Given the description of an element on the screen output the (x, y) to click on. 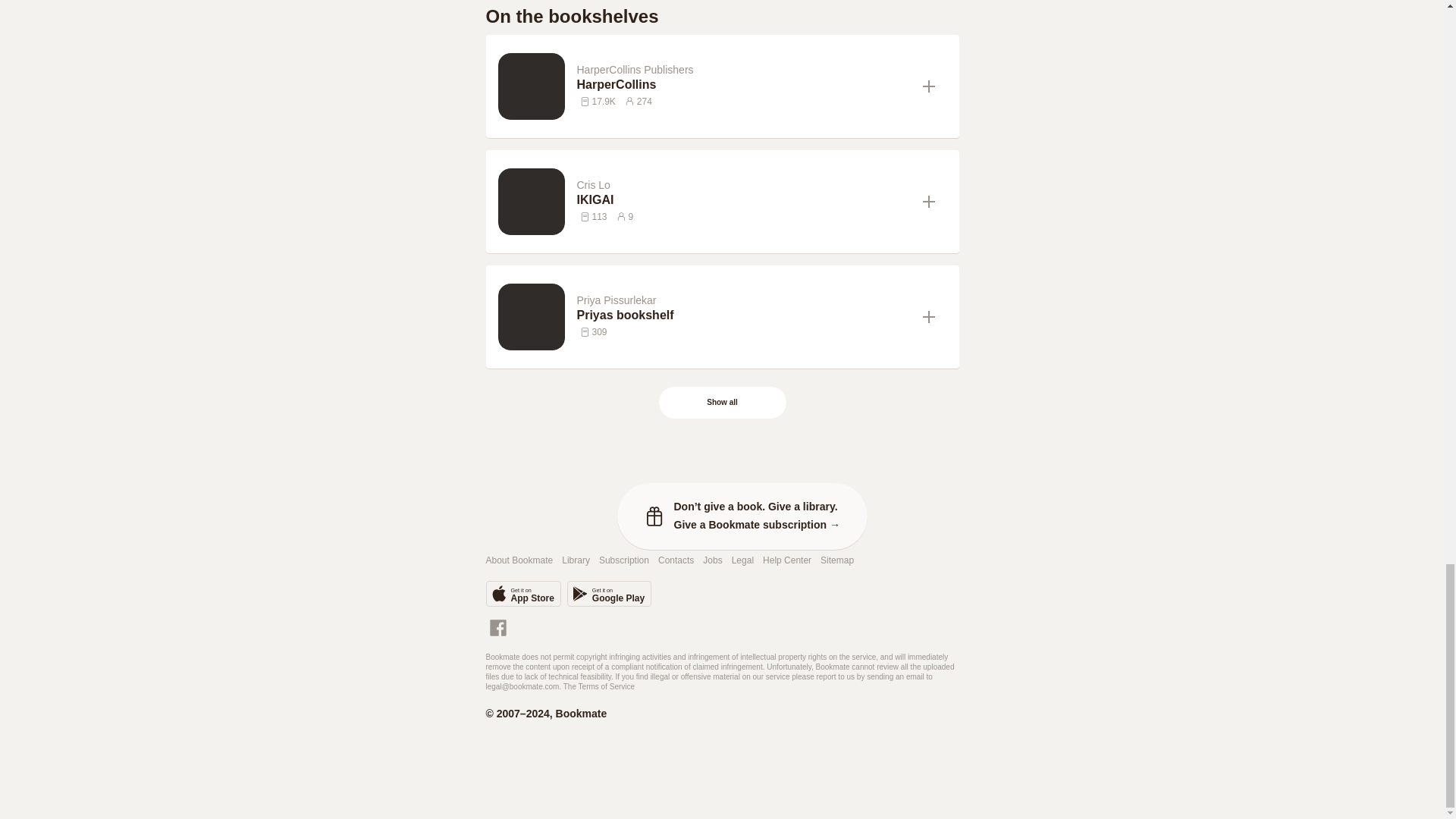
Show all (722, 402)
About Bookmate (518, 560)
Subscription (623, 560)
Priyas bookshelf (743, 314)
Jobs (712, 560)
IKIGAI (743, 200)
Contacts (676, 560)
HarperCollins  (743, 84)
IKIGAI (743, 200)
HarperCollins (743, 84)
